Given the description of an element on the screen output the (x, y) to click on. 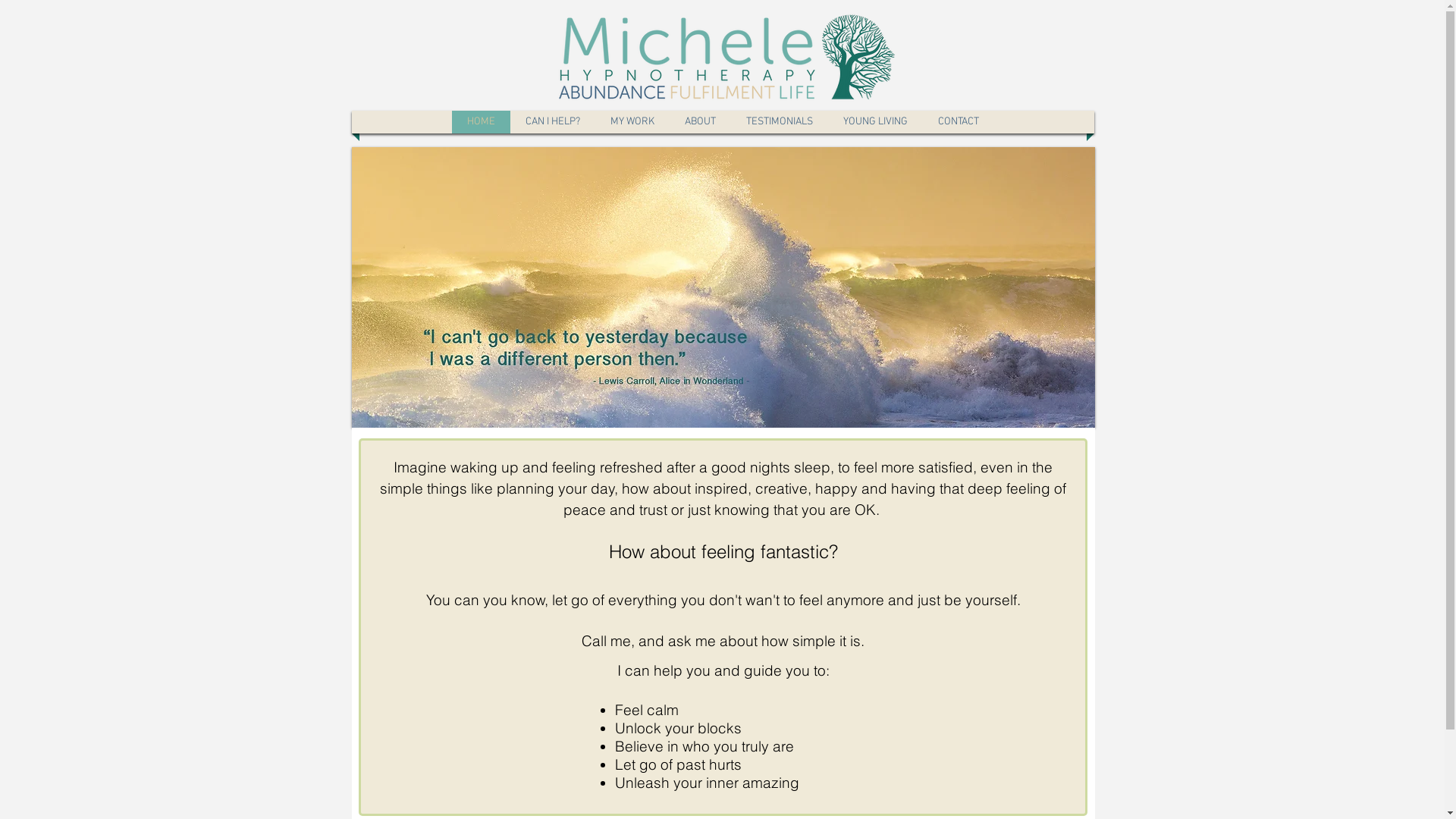
YOUNG LIVING Element type: text (874, 121)
MY WORK Element type: text (632, 121)
ABOUT Element type: text (700, 121)
TESTIMONIALS Element type: text (778, 121)
CAN I HELP? Element type: text (552, 121)
me, Element type: text (622, 640)
HOME Element type: text (480, 121)
CONTACT Element type: text (958, 121)
Call  Element type: text (595, 640)
